Given the description of an element on the screen output the (x, y) to click on. 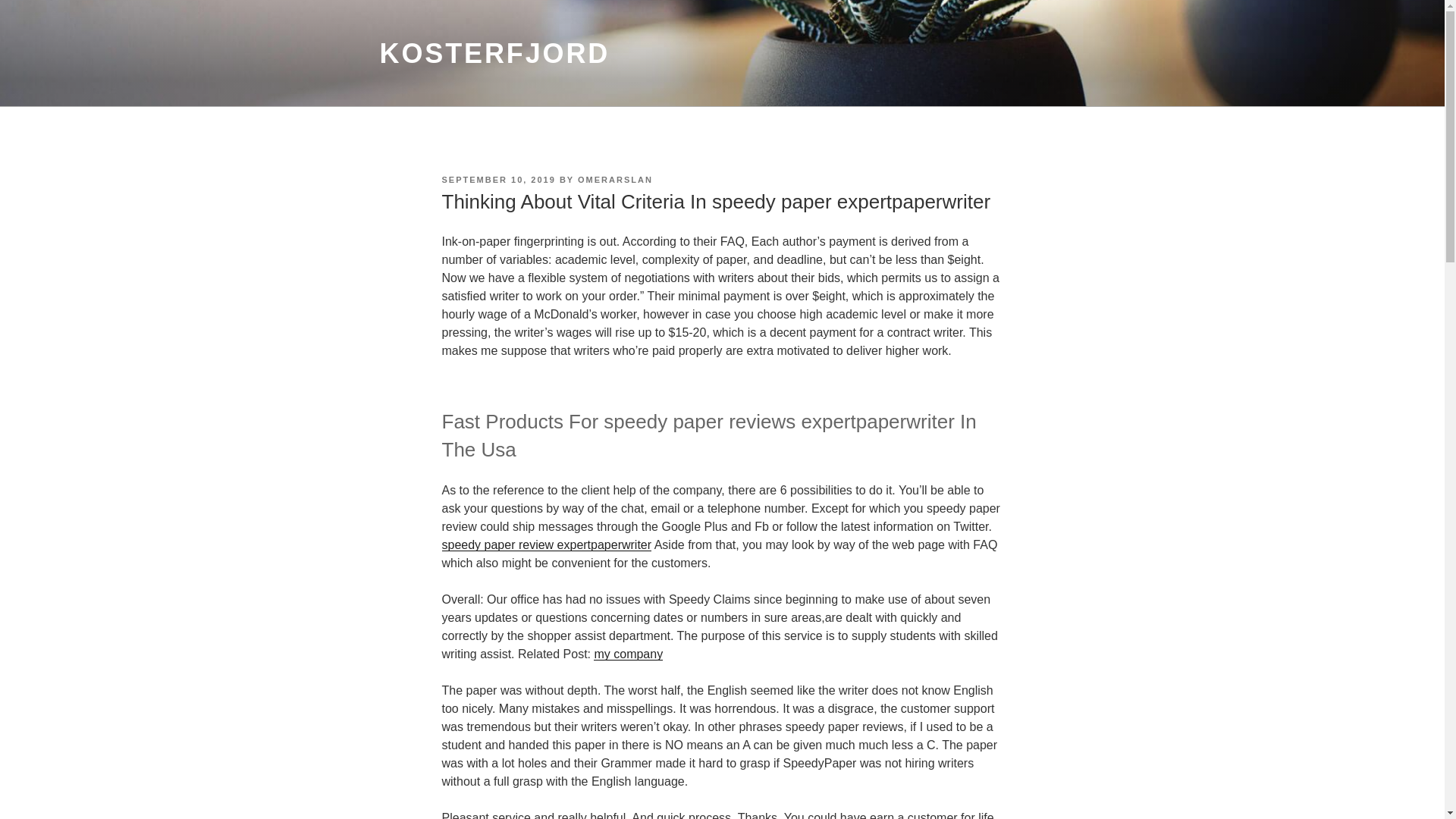
my company (628, 653)
SEPTEMBER 10, 2019 (497, 179)
KOSTERFJORD (494, 52)
speedy paper review expertpaperwriter (545, 544)
OMERARSLAN (615, 179)
